Given the description of an element on the screen output the (x, y) to click on. 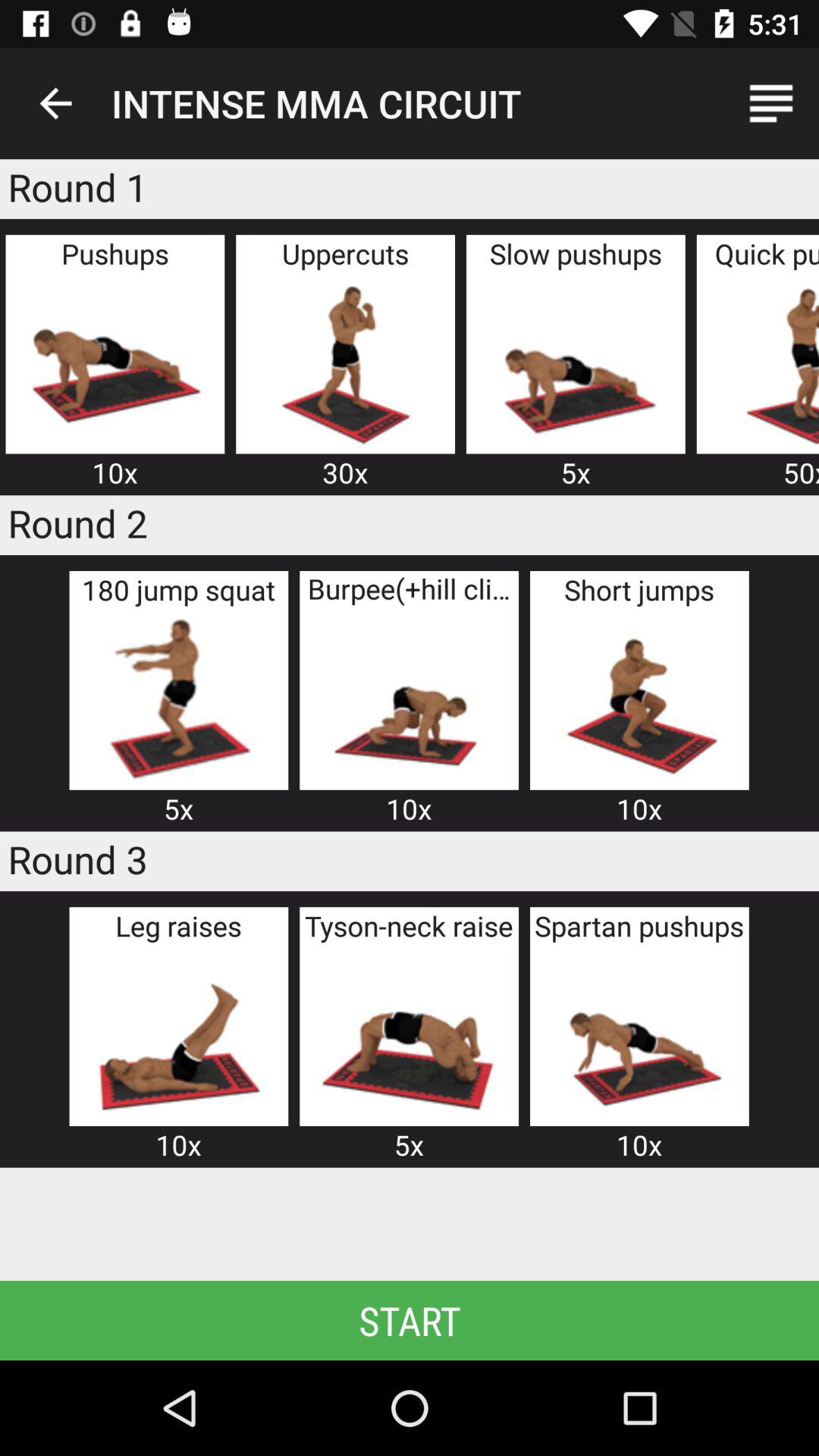
click the item next to intense mma circuit icon (55, 103)
